Given the description of an element on the screen output the (x, y) to click on. 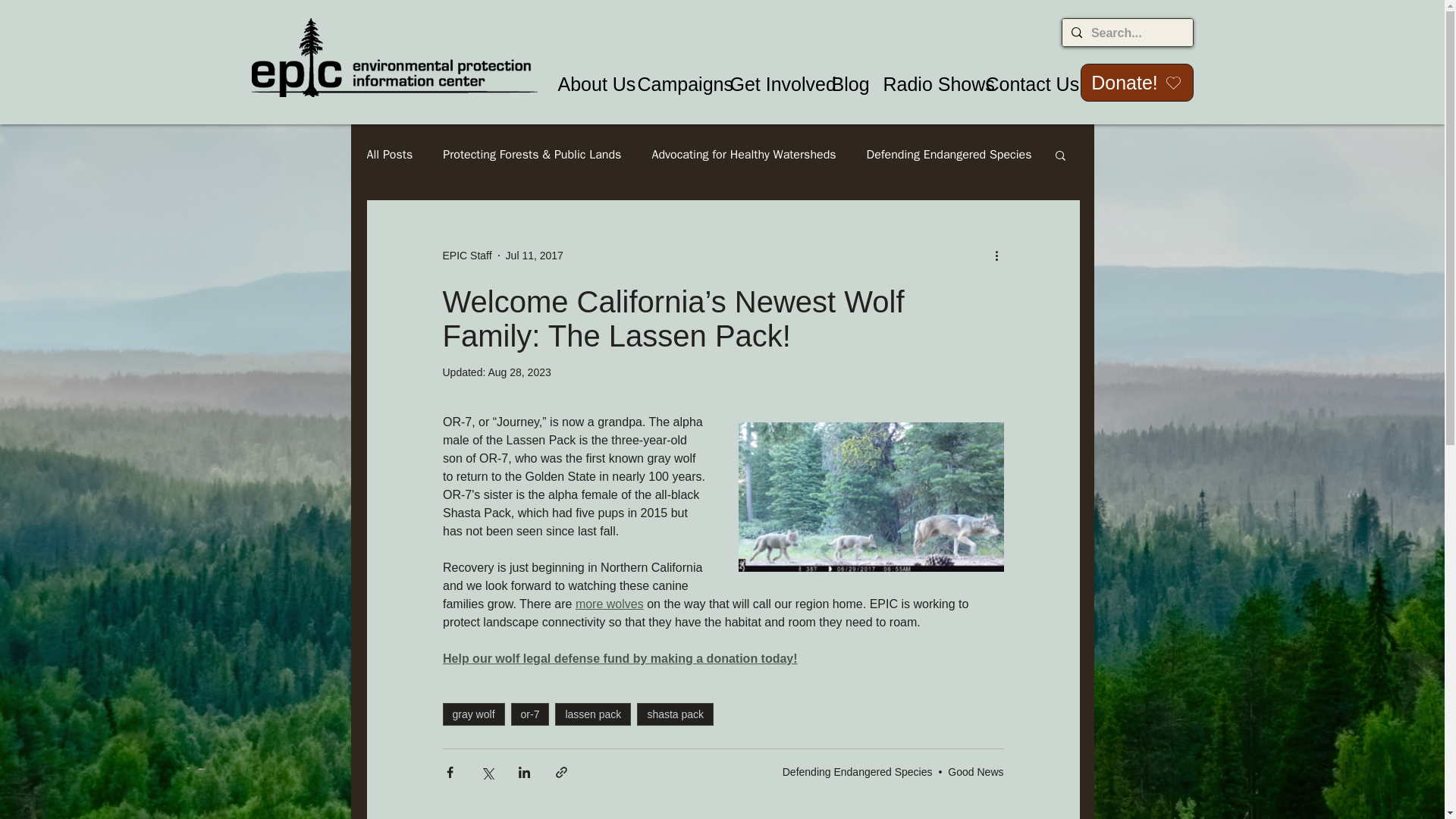
Advocating for Healthy Watersheds (742, 154)
Get Involved (770, 84)
Jul 11, 2017 (534, 254)
Aug 28, 2023 (518, 372)
All Posts (389, 154)
Radio Shows (923, 84)
Contact Us (1019, 84)
Defending Endangered Species (949, 154)
EPIC Staff (467, 254)
Blog (846, 84)
